Given the description of an element on the screen output the (x, y) to click on. 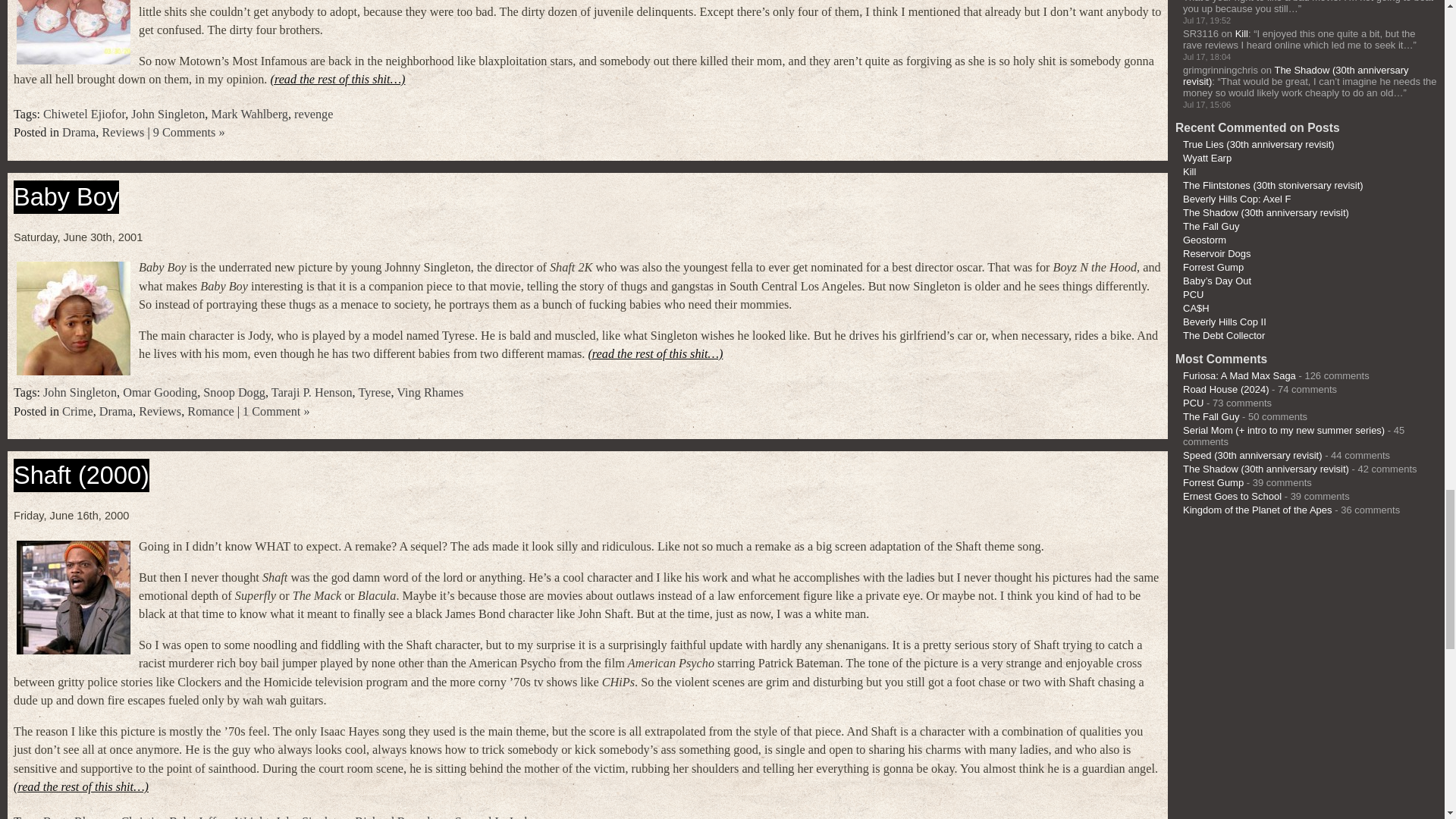
Permanent Link to Baby Boy (66, 196)
